Given the description of an element on the screen output the (x, y) to click on. 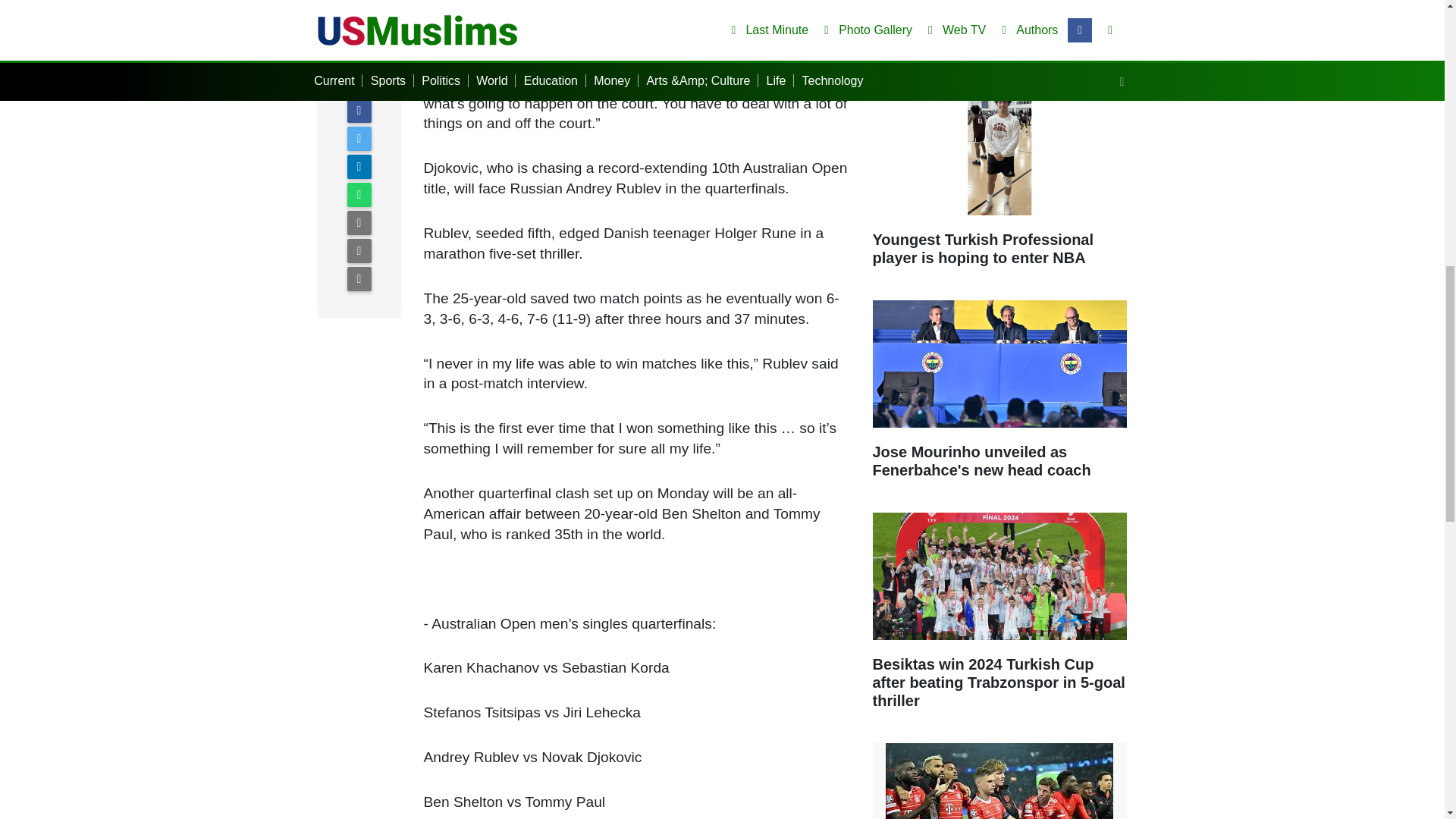
Jose Mourinho unveiled as Fenerbahce's new head coach (999, 397)
Youngest Turkish Professional player is hoping to enter NBA (999, 184)
